Given the description of an element on the screen output the (x, y) to click on. 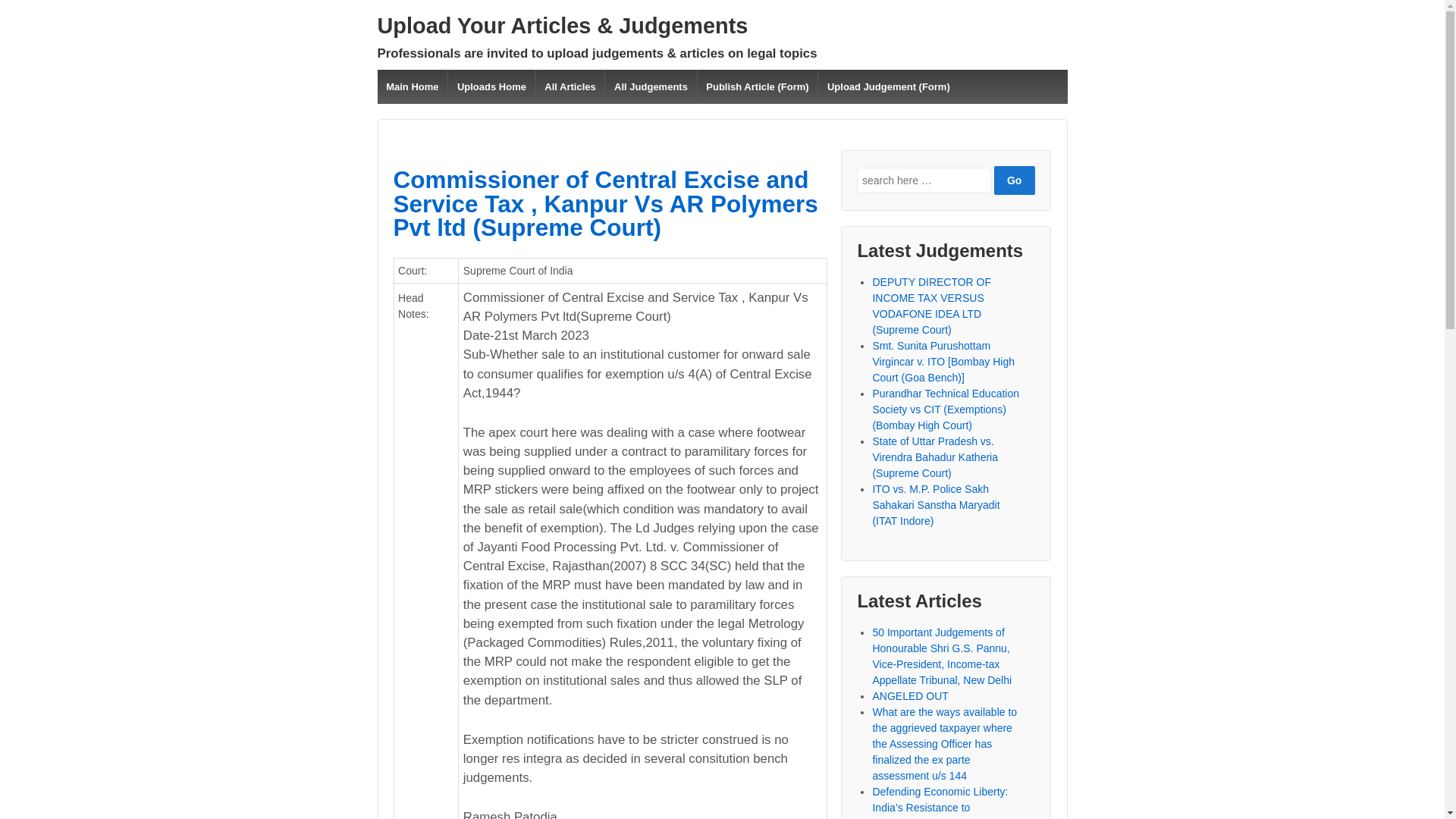
All Judgements (649, 86)
Go (1014, 180)
ANGELED OUT (909, 695)
Uploads Home (490, 86)
All Articles (570, 86)
Main Home (412, 86)
Go (1014, 180)
